Given the description of an element on the screen output the (x, y) to click on. 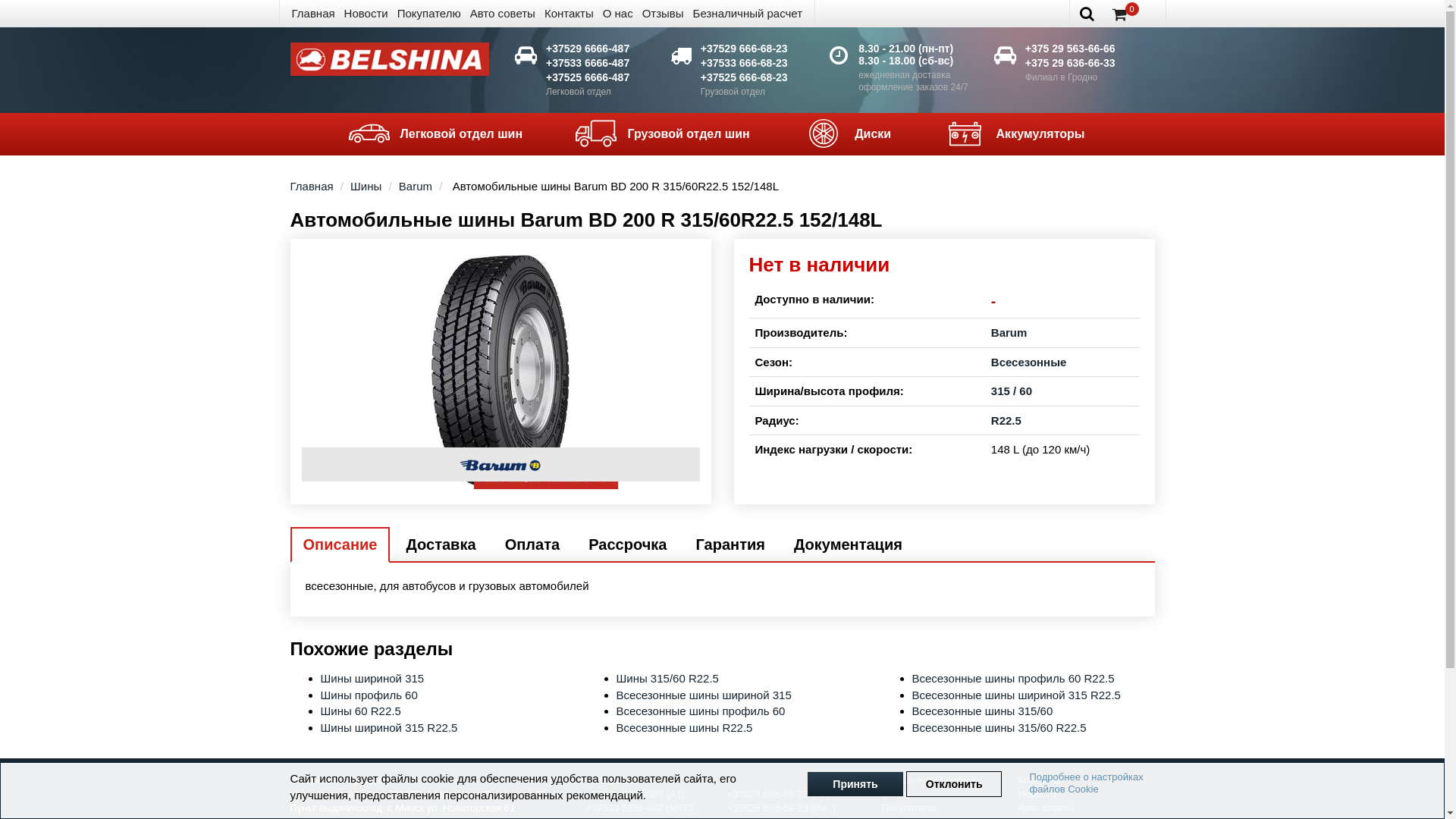
Barum Element type: text (1009, 332)
R22.5 Element type: text (1006, 420)
+37525 666-68-23 Element type: text (743, 77)
+375 29 636-66-33 Element type: text (1070, 62)
Barum Element type: text (415, 185)
+37533 6666-487 Element type: text (587, 62)
315 / 60 Element type: text (1011, 390)
+37525 6666-487 Element type: text (587, 77)
Barum Element type: hover (500, 464)
+37529 666-68-23 Element type: text (743, 48)
+37529 666-68-23 (A1) Element type: text (778, 794)
+37529 6666-487 (A1) Element type: text (634, 794)
+37525 666-68-23 (life :) Element type: text (781, 807)
+37529 6666-487 Element type: text (587, 48)
+375 29 563-66-66 Element type: text (1070, 48)
+37533 666-68-23 Element type: text (743, 62)
